Given the description of an element on the screen output the (x, y) to click on. 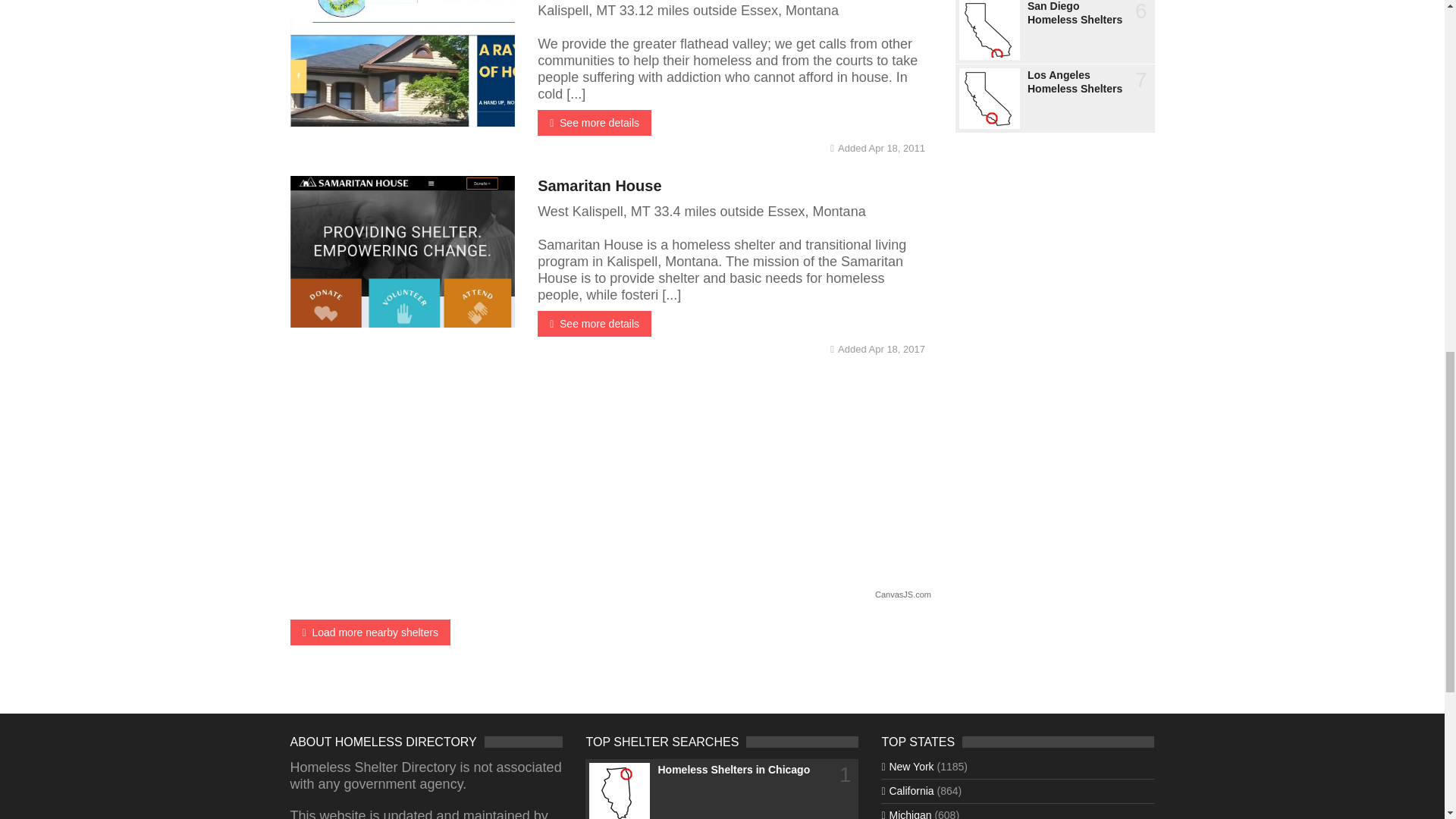
CanvasJS.com (903, 594)
  Load more nearby shelters (369, 632)
Samaritan House (599, 185)
JavaScript Charts (903, 594)
  See more details (593, 323)
  See more details (593, 122)
